Given the description of an element on the screen output the (x, y) to click on. 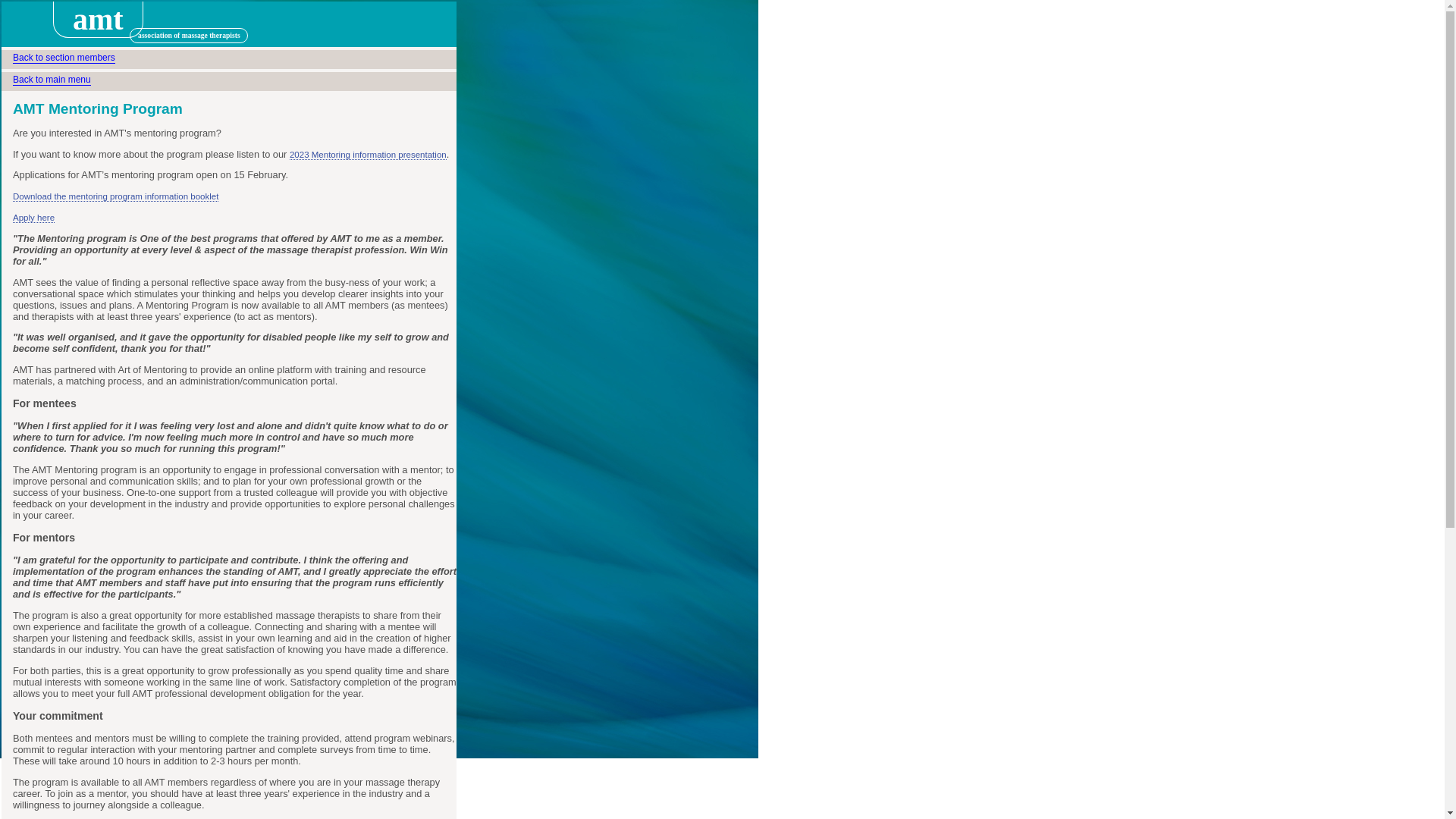
Download the mentoring program information booklet Element type: text (115, 196)
Back to section members Element type: text (63, 57)
Apply here Element type: text (33, 217)
amt Element type: text (58, 24)
2023 Mentoring information presentation Element type: text (367, 155)
Back to main menu Element type: text (51, 79)
